Given the description of an element on the screen output the (x, y) to click on. 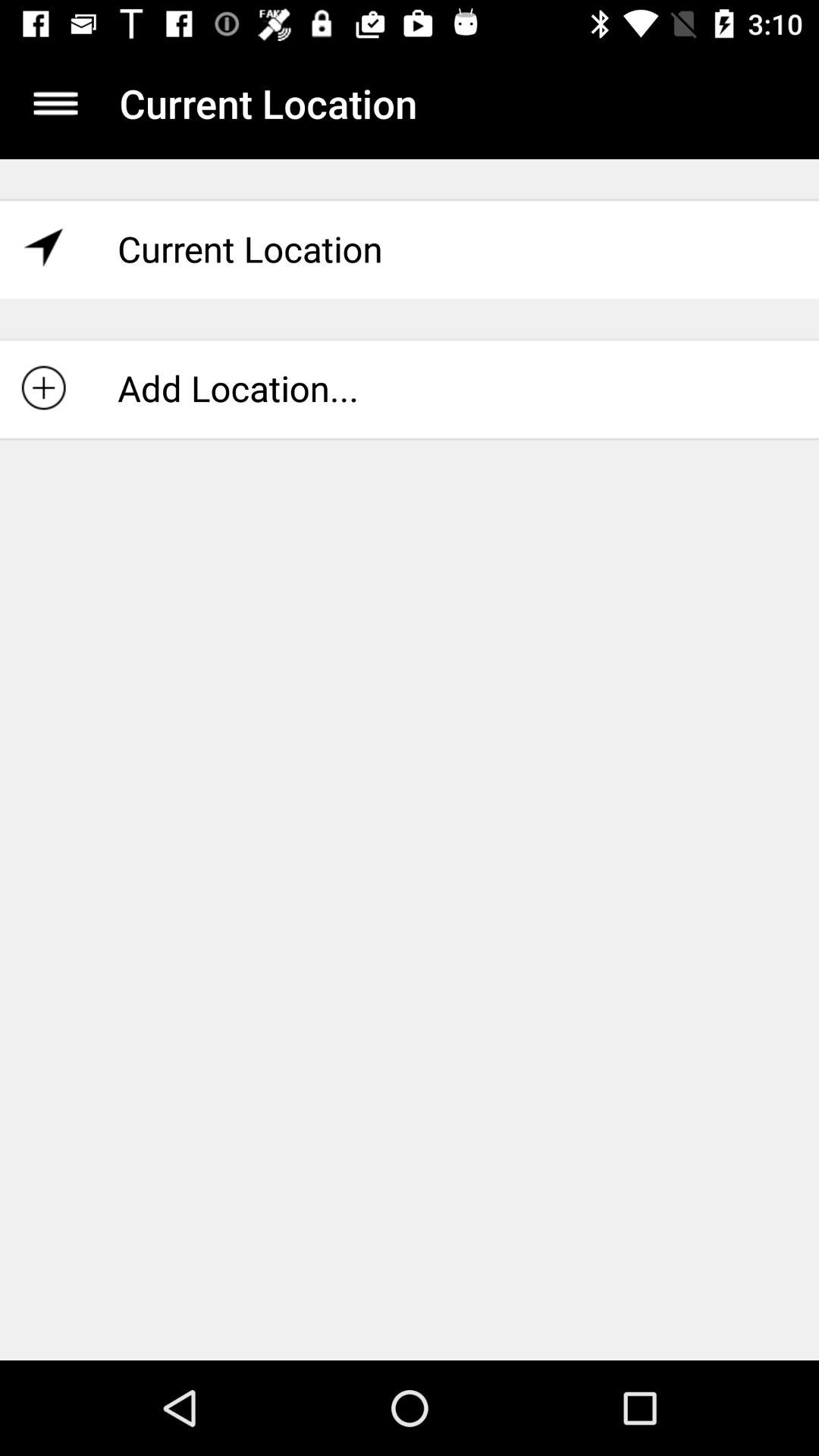
open menu (55, 103)
